Given the description of an element on the screen output the (x, y) to click on. 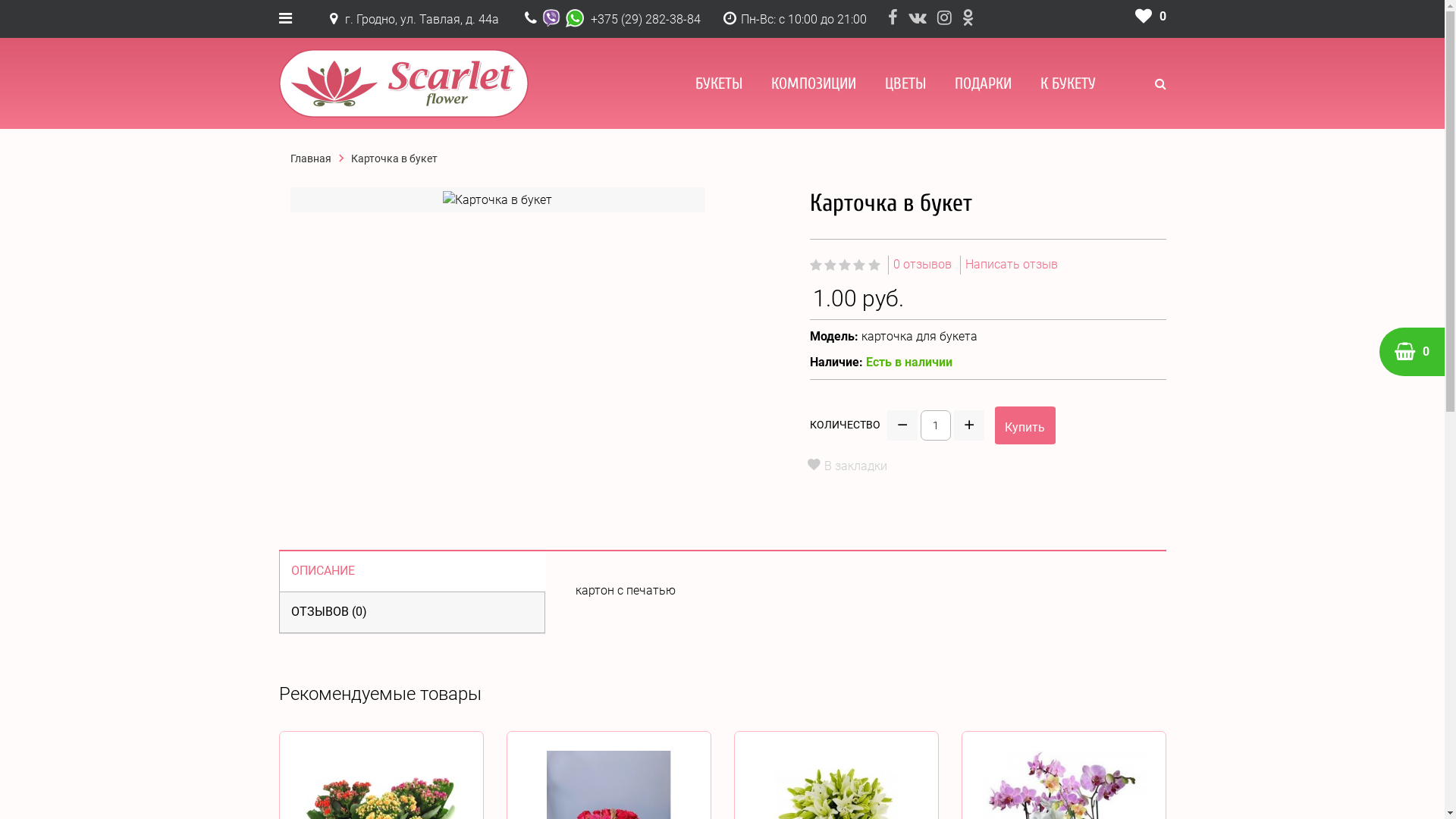
0 Element type: text (1411, 351)
0 Element type: text (1149, 16)
0 Element type: text (1411, 351)
+375 (29) 282-38-84 Element type: text (644, 19)
Scarlet-flower.by Element type: hover (403, 83)
